Given the description of an element on the screen output the (x, y) to click on. 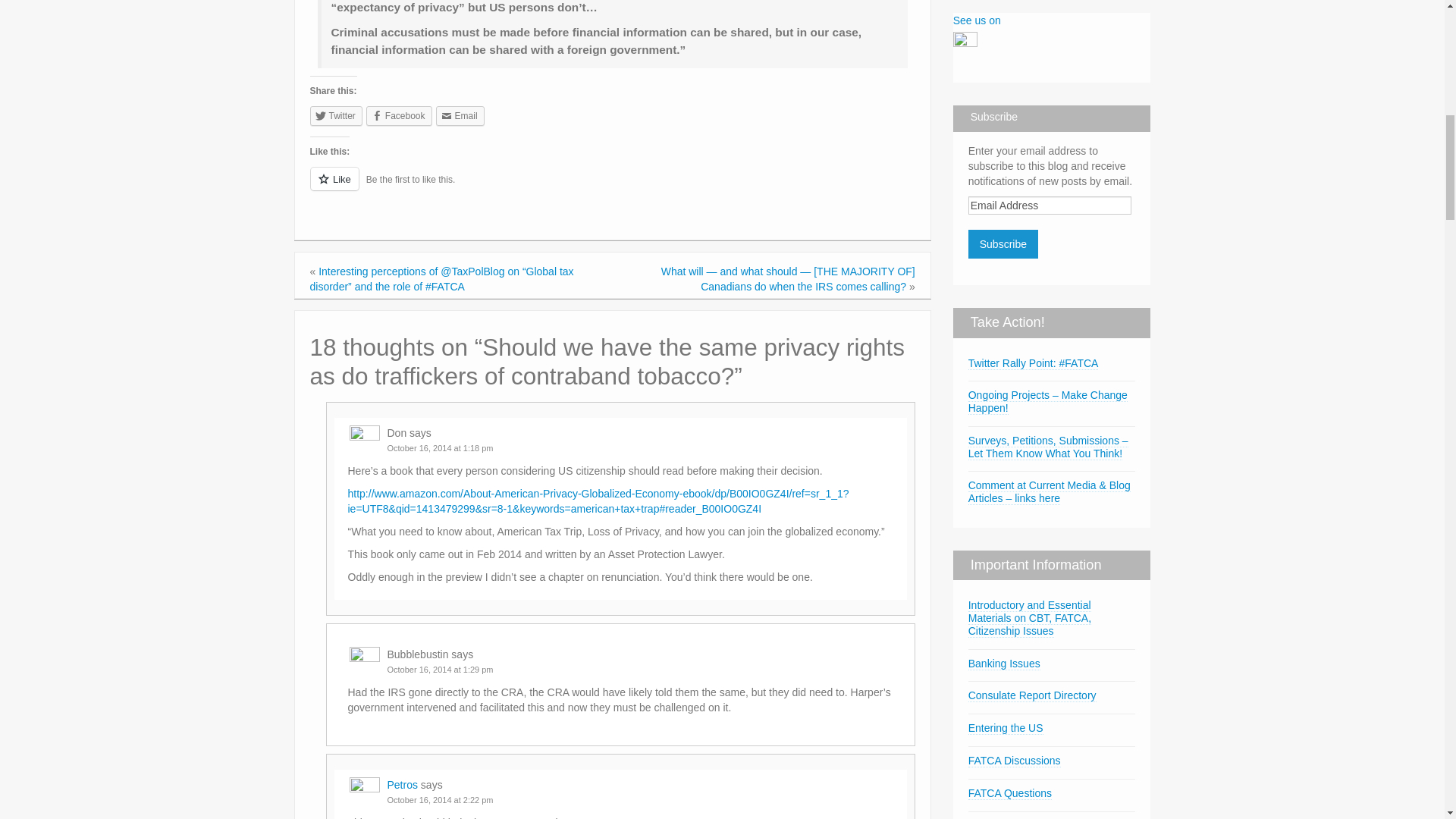
Share on Facebook (399, 116)
Subscribe (1003, 244)
Facebook (399, 116)
October 16, 2014 at 1:29 pm (440, 669)
Click to share on Twitter (334, 116)
Click to email this to a friend (459, 116)
October 16, 2014 at 2:22 pm (440, 799)
Email Address (1050, 205)
Twitter (334, 116)
October 16, 2014 at 1:18 pm (440, 447)
Petros (401, 784)
Email (459, 116)
